Given the description of an element on the screen output the (x, y) to click on. 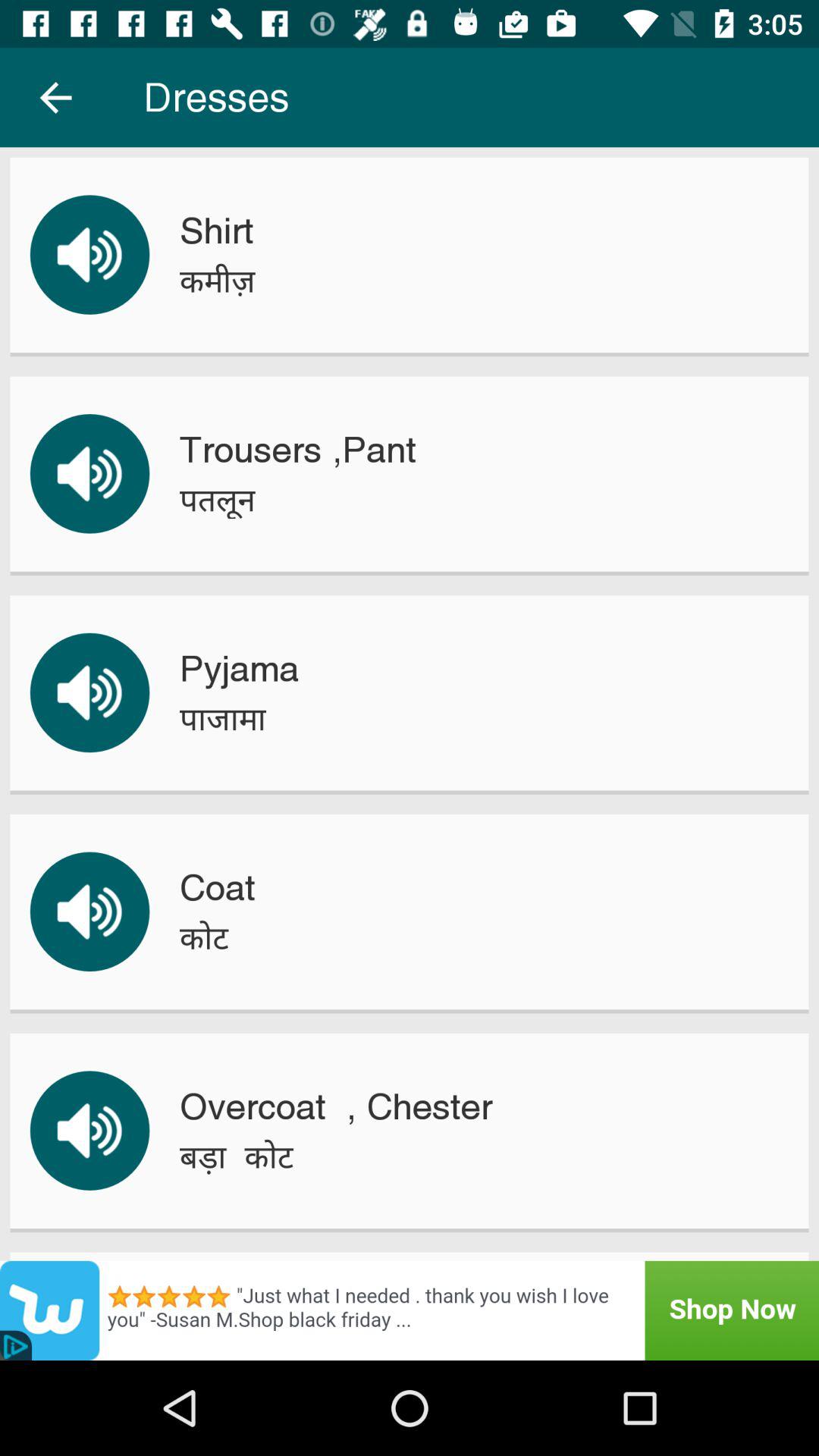
jump to trousers ,pant icon (297, 449)
